Given the description of an element on the screen output the (x, y) to click on. 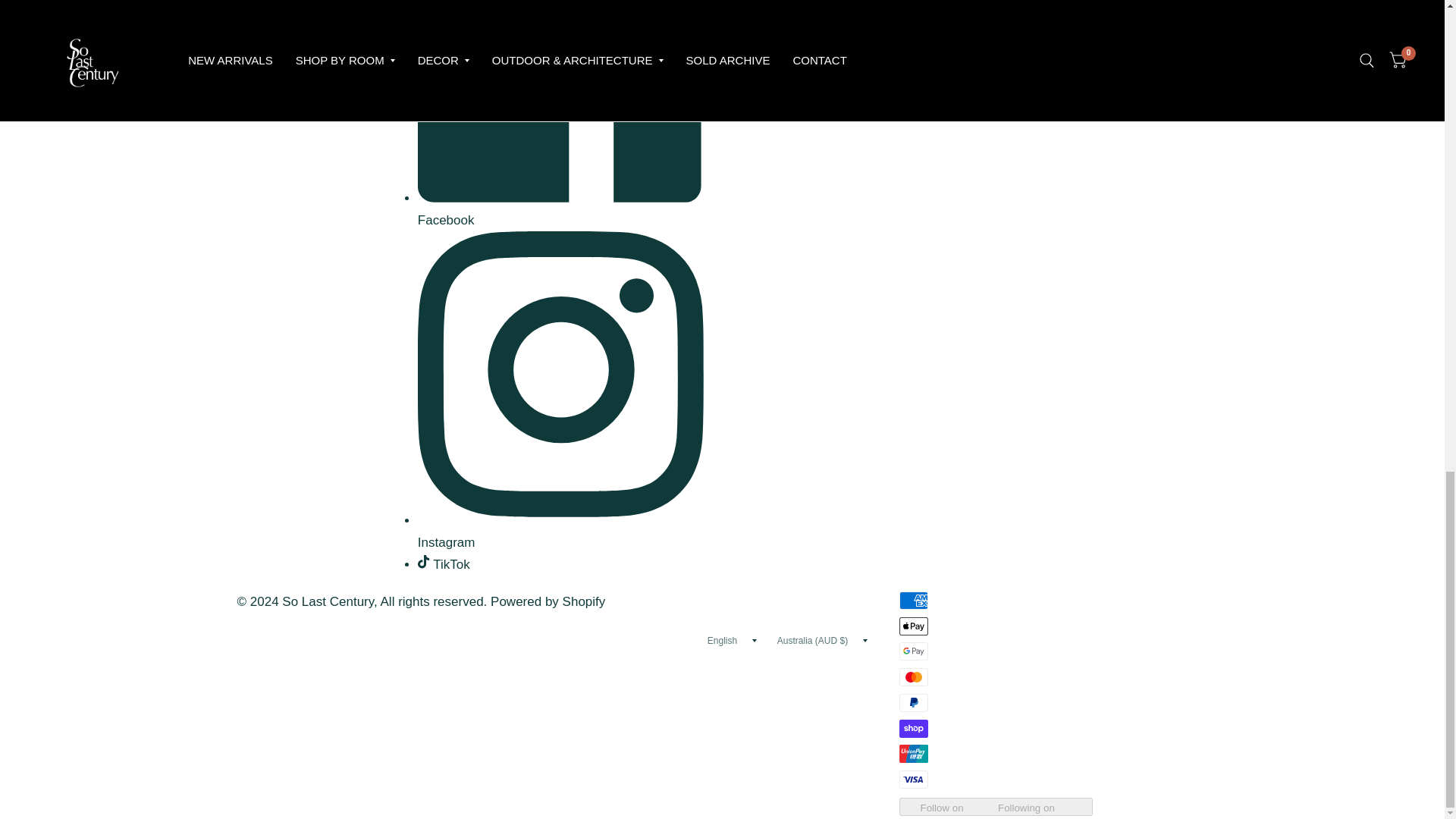
American Express (913, 600)
Mastercard (913, 677)
Google Pay (913, 651)
Apple Pay (913, 626)
